Given the description of an element on the screen output the (x, y) to click on. 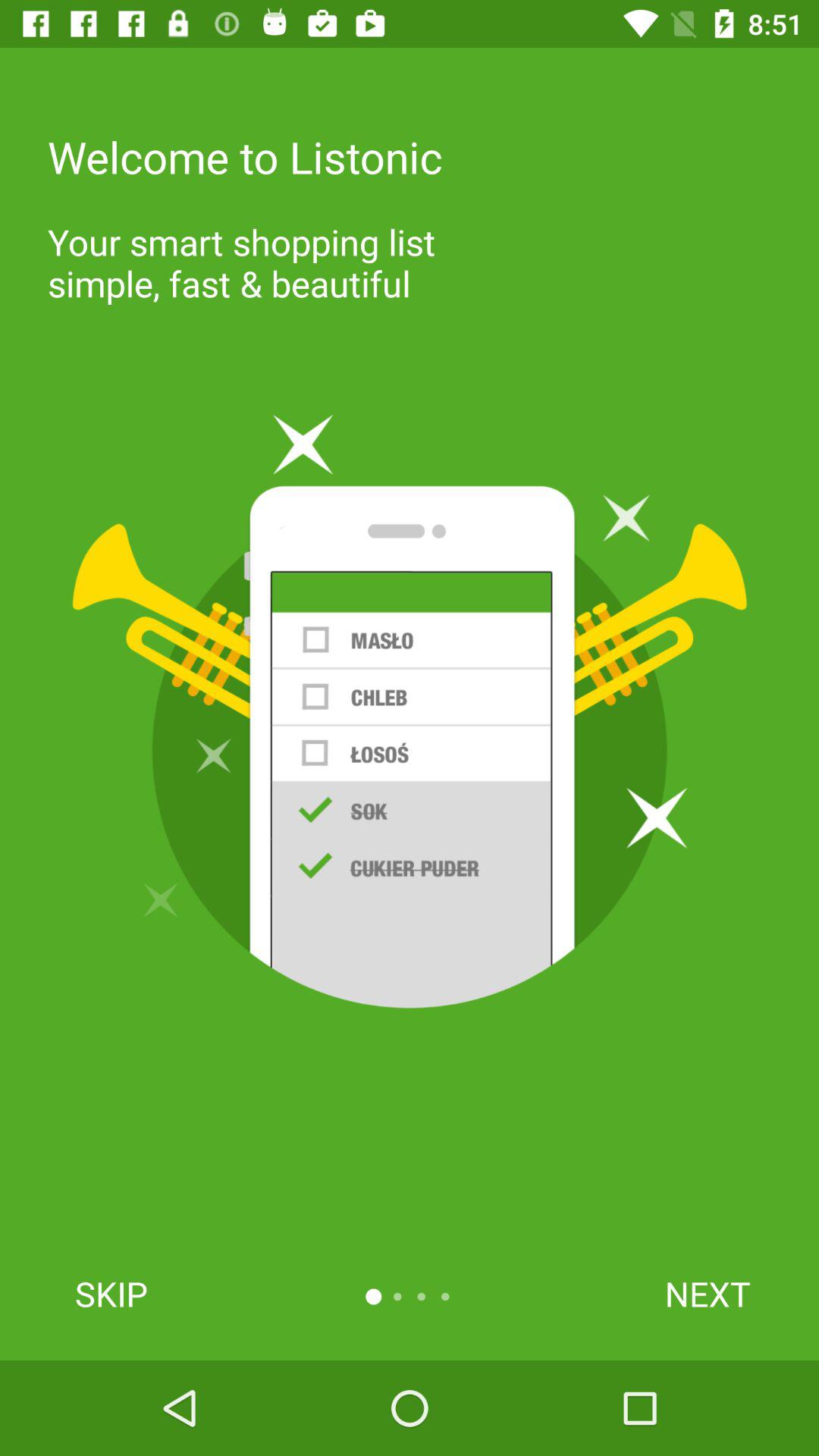
press item at the bottom right corner (707, 1293)
